Given the description of an element on the screen output the (x, y) to click on. 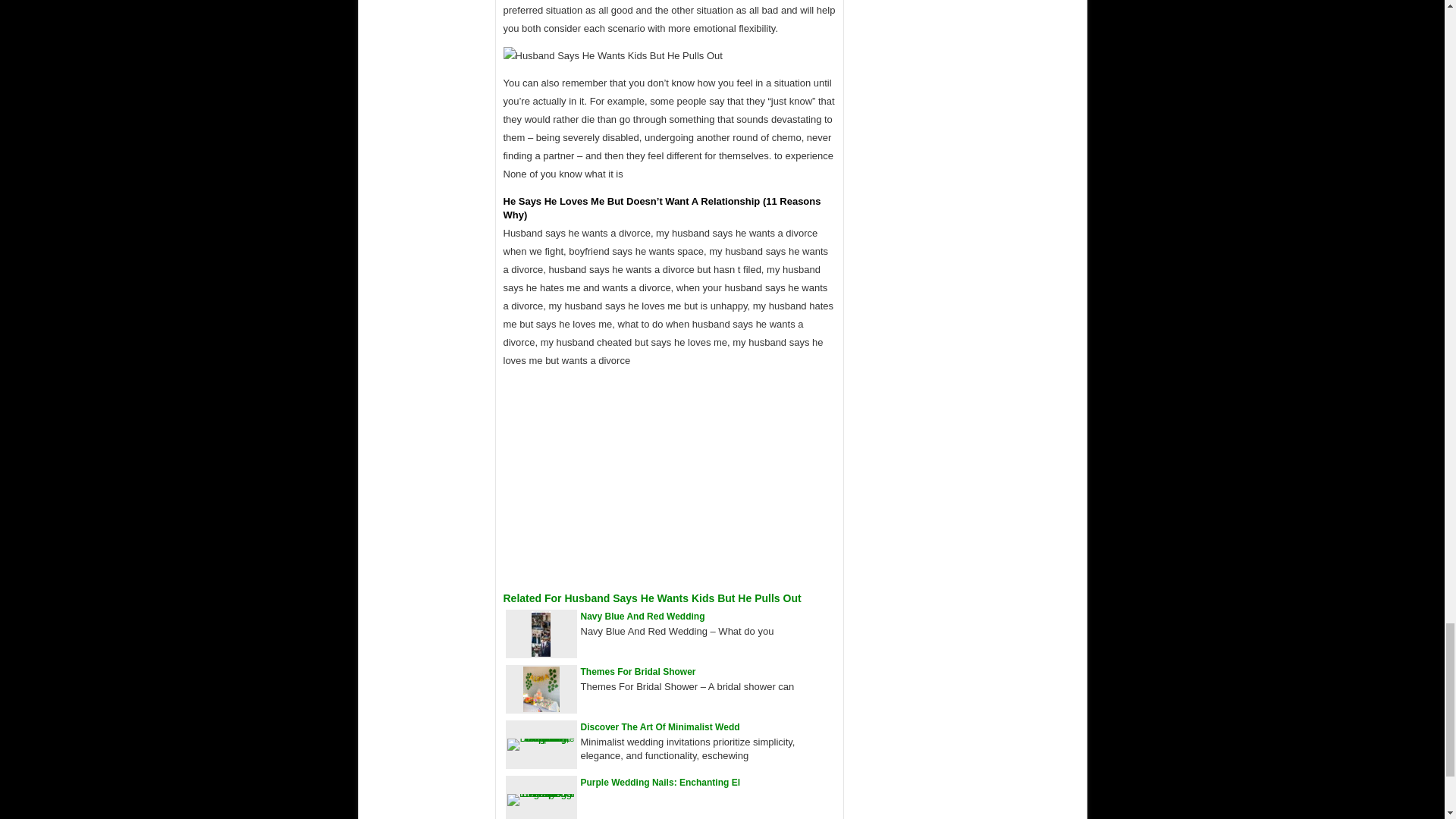
Purple Wedding Nails: Enchanting El (659, 782)
Themes For Bridal Shower (637, 671)
Husband Says He Wants Kids But He Pulls Out (612, 55)
Navy Blue And Red Wedding (540, 653)
Themes For Bridal Shower (540, 708)
Navy Blue And Red Wedding (642, 615)
Themes For Bridal Shower (637, 671)
Navy Blue And Red Wedding (642, 615)
Discover The Art Of Minimalist Wedd (659, 726)
